Given the description of an element on the screen output the (x, y) to click on. 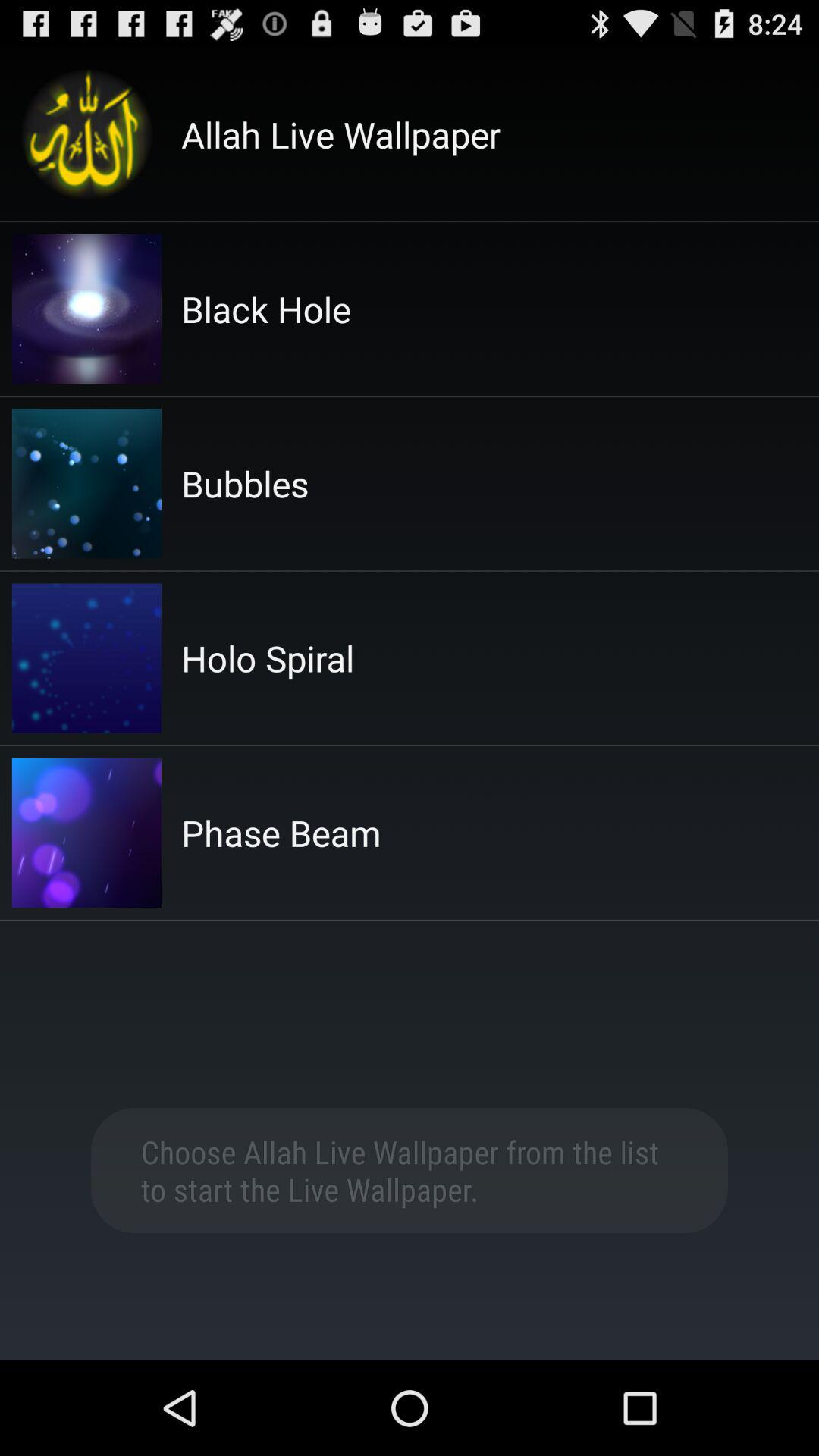
scroll to the allah live wallpaper (341, 134)
